Given the description of an element on the screen output the (x, y) to click on. 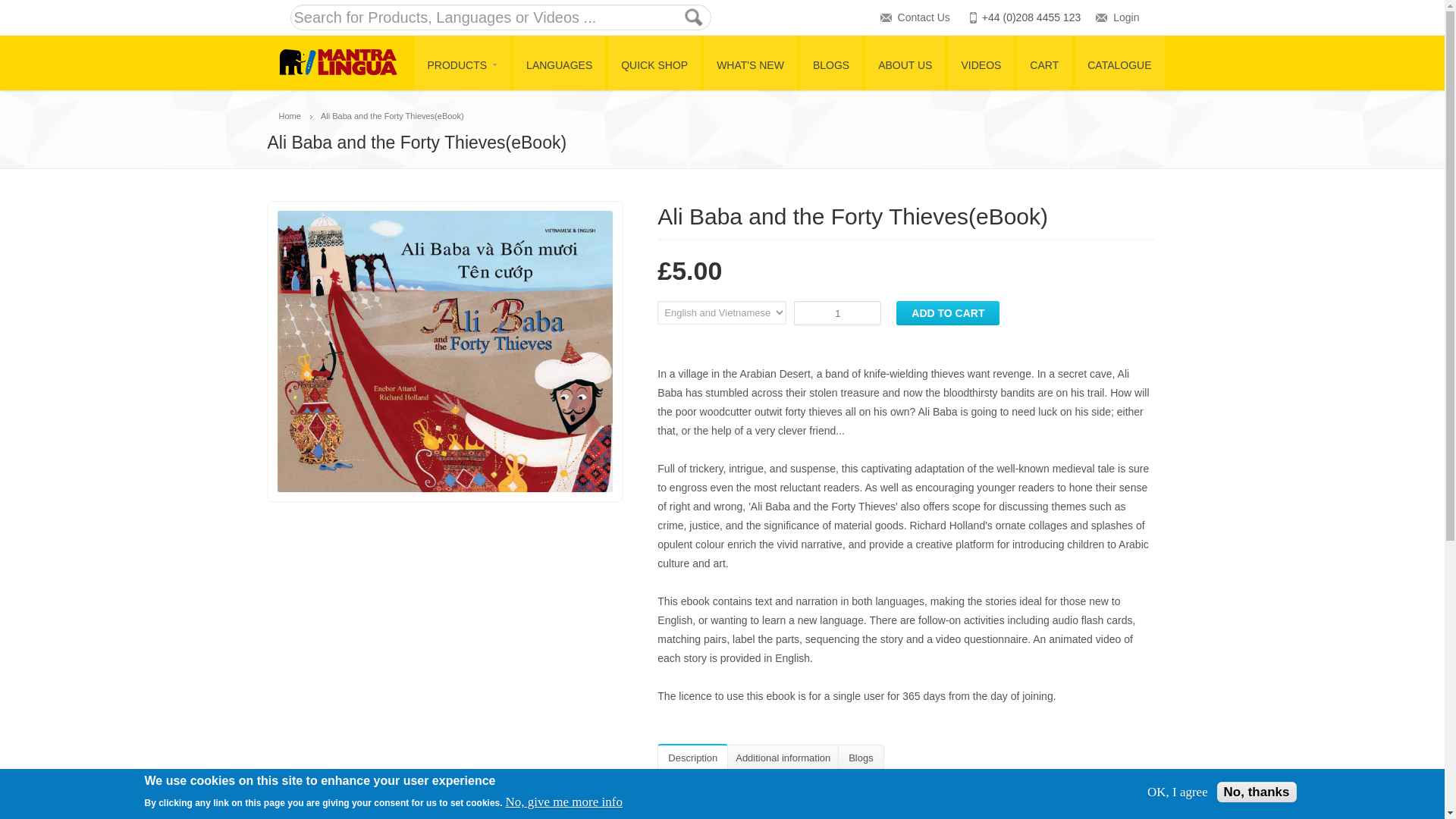
PRODUCTS (462, 63)
WHAT'S NEW (749, 63)
Contact Us (924, 17)
1 (836, 313)
VIDEOS (980, 63)
Login (1125, 17)
CATALOGUE (1118, 63)
LANGUAGES (559, 63)
Add to cart (947, 313)
QUICK SHOP (654, 63)
BLOGS (830, 63)
ABOUT US (904, 63)
CART (1043, 63)
